Given the description of an element on the screen output the (x, y) to click on. 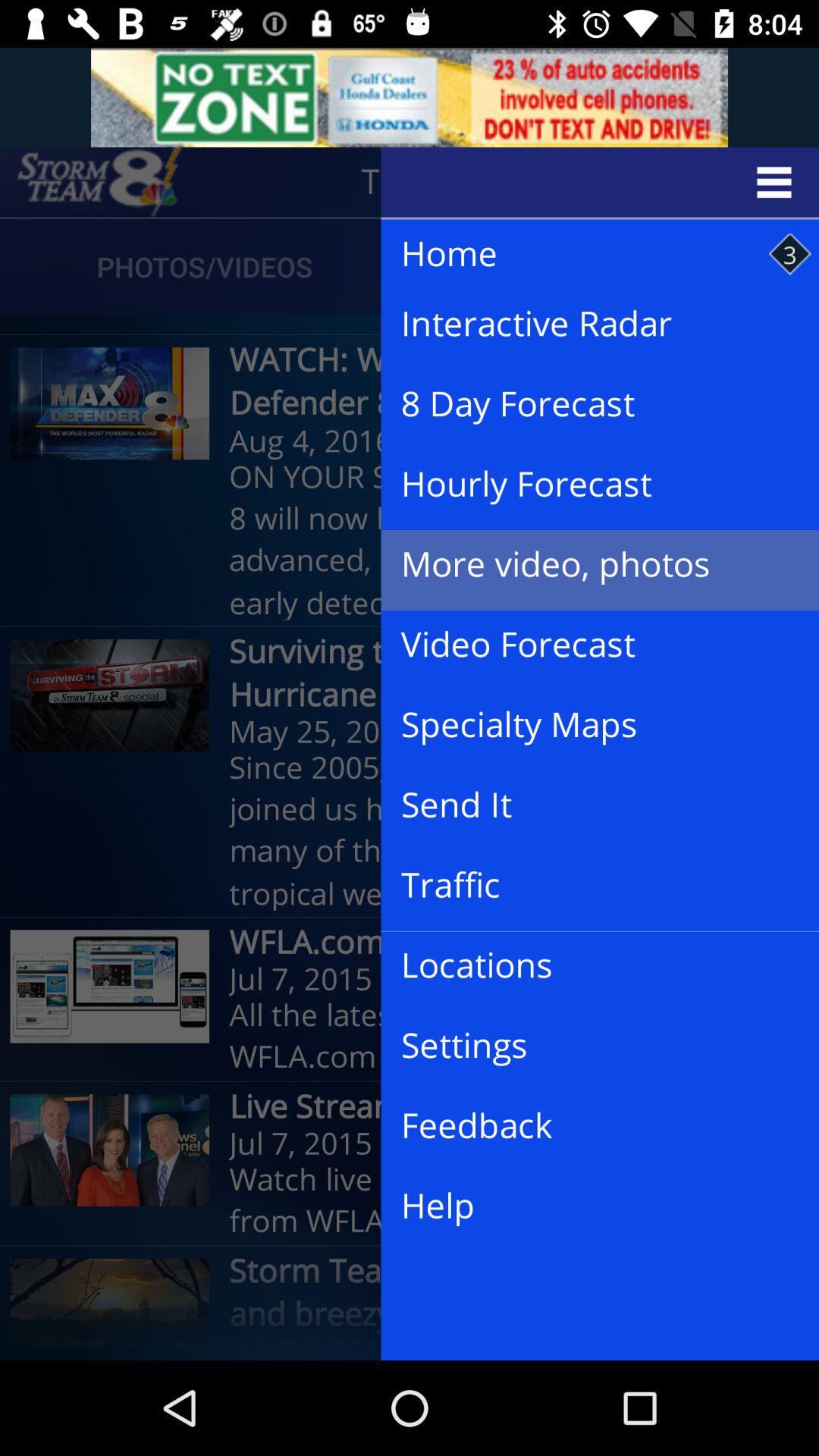
flip to tampa, fl icon (468, 182)
